Given the description of an element on the screen output the (x, y) to click on. 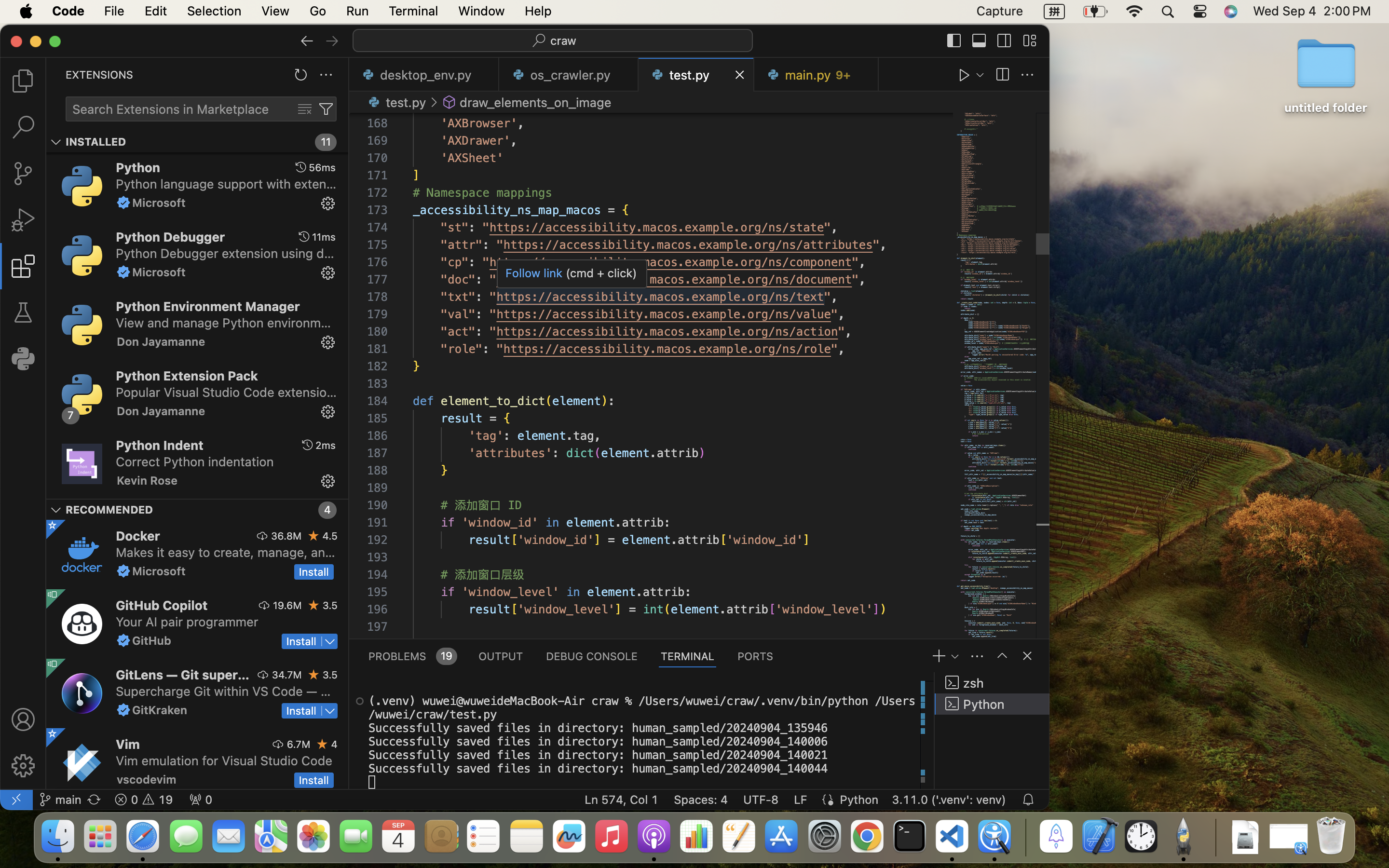
 Element type: AXButton (332, 40)
 Element type: AXButton (327, 480)
Python Debugger Element type: AXStaticText (170, 236)
 Element type: AXButton (304, 108)
 Element type: AXStaticText (449, 101)
